Given the description of an element on the screen output the (x, y) to click on. 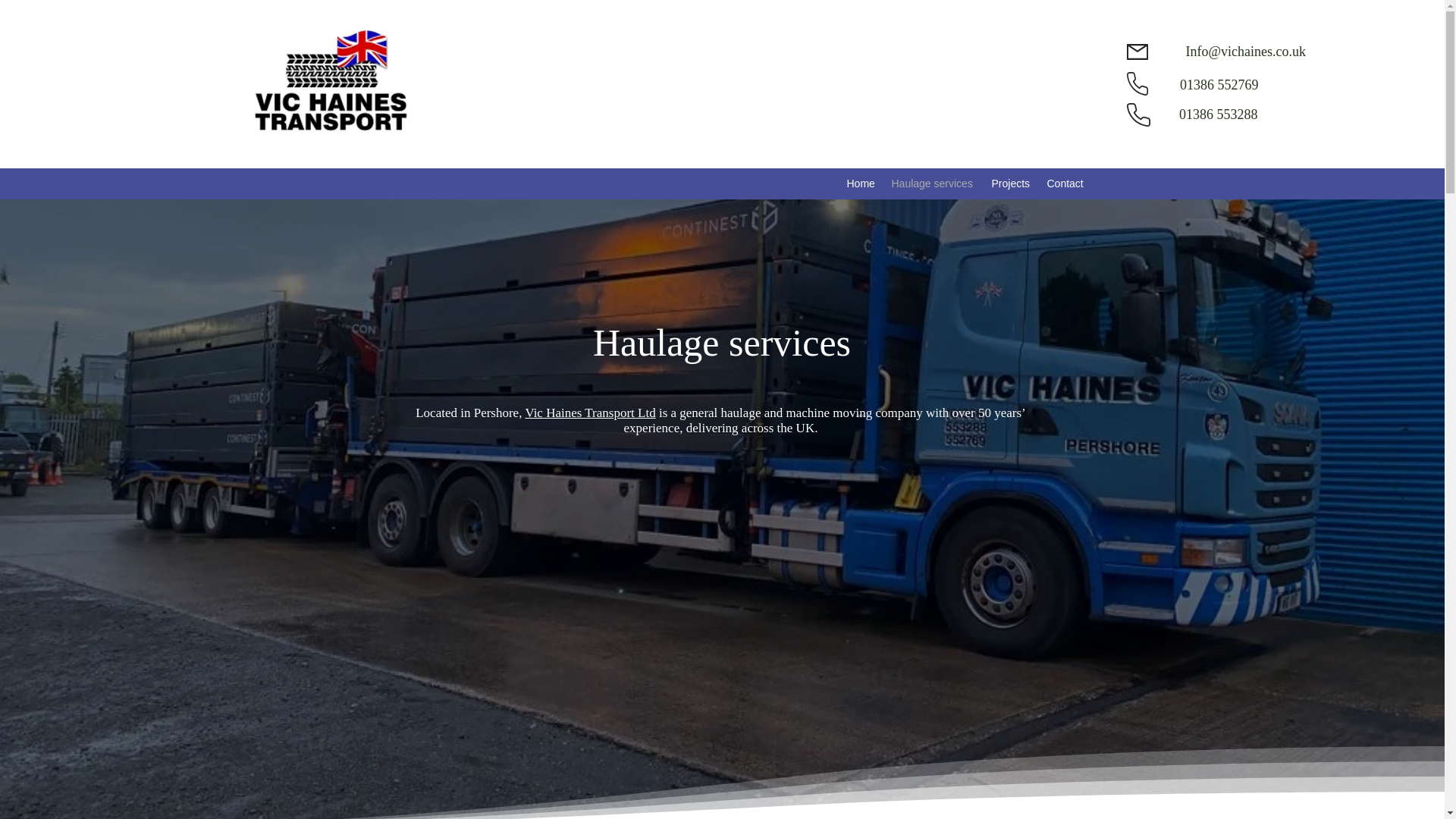
Contact (1066, 183)
Home (860, 183)
Vic Haines Transport Ltd (589, 412)
Haulage services (933, 183)
Projects (1011, 183)
